Given the description of an element on the screen output the (x, y) to click on. 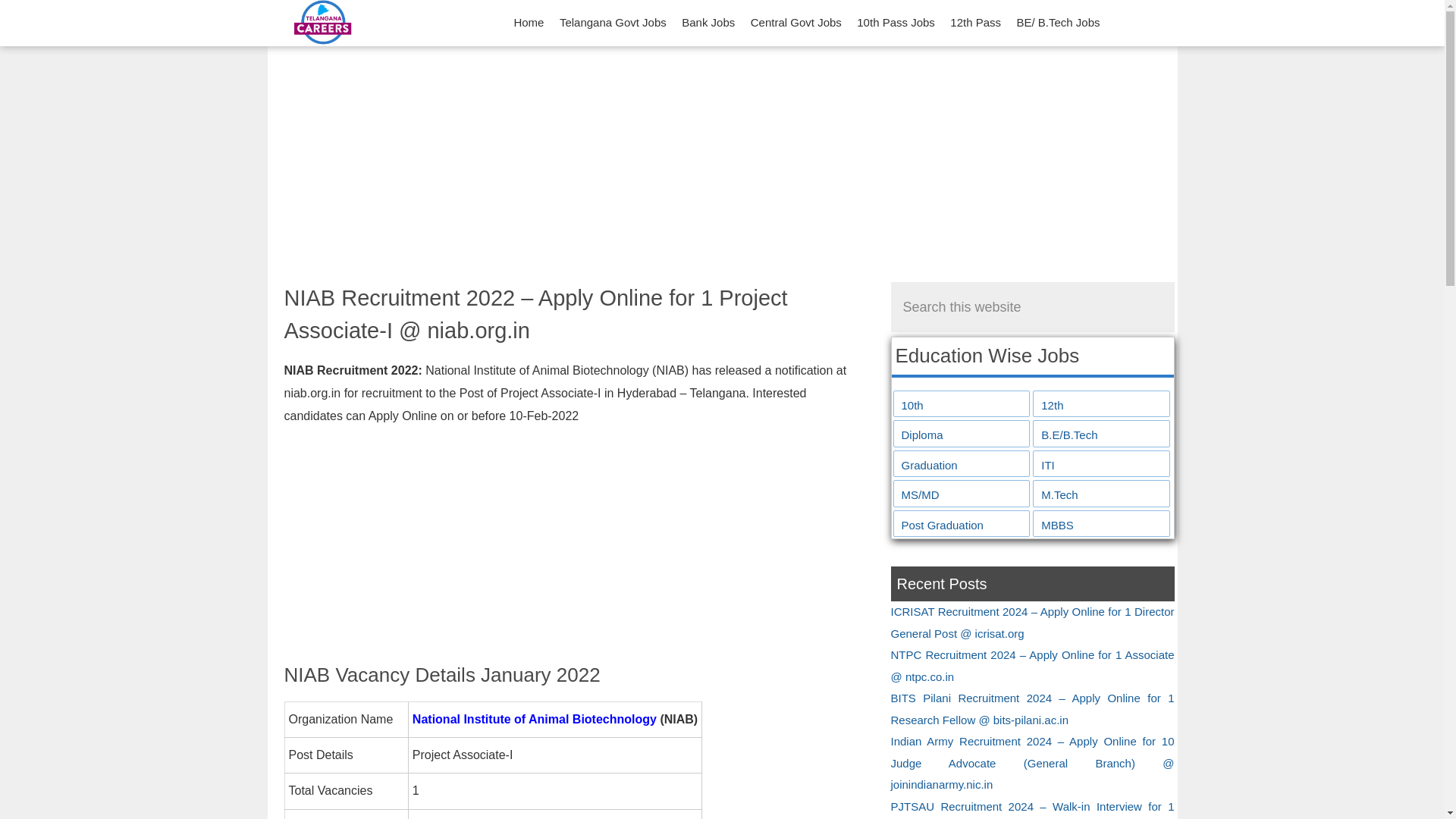
Central Govt Jobs (795, 22)
Telangana Govt Jobs (612, 22)
10th Pass Jobs (895, 22)
Diploma (961, 435)
ITI (1101, 465)
Advertisement (575, 548)
12th (1101, 405)
10th (961, 405)
Telanganacareers.com (320, 22)
Bank Jobs (708, 22)
Post Graduation (961, 526)
